Given the description of an element on the screen output the (x, y) to click on. 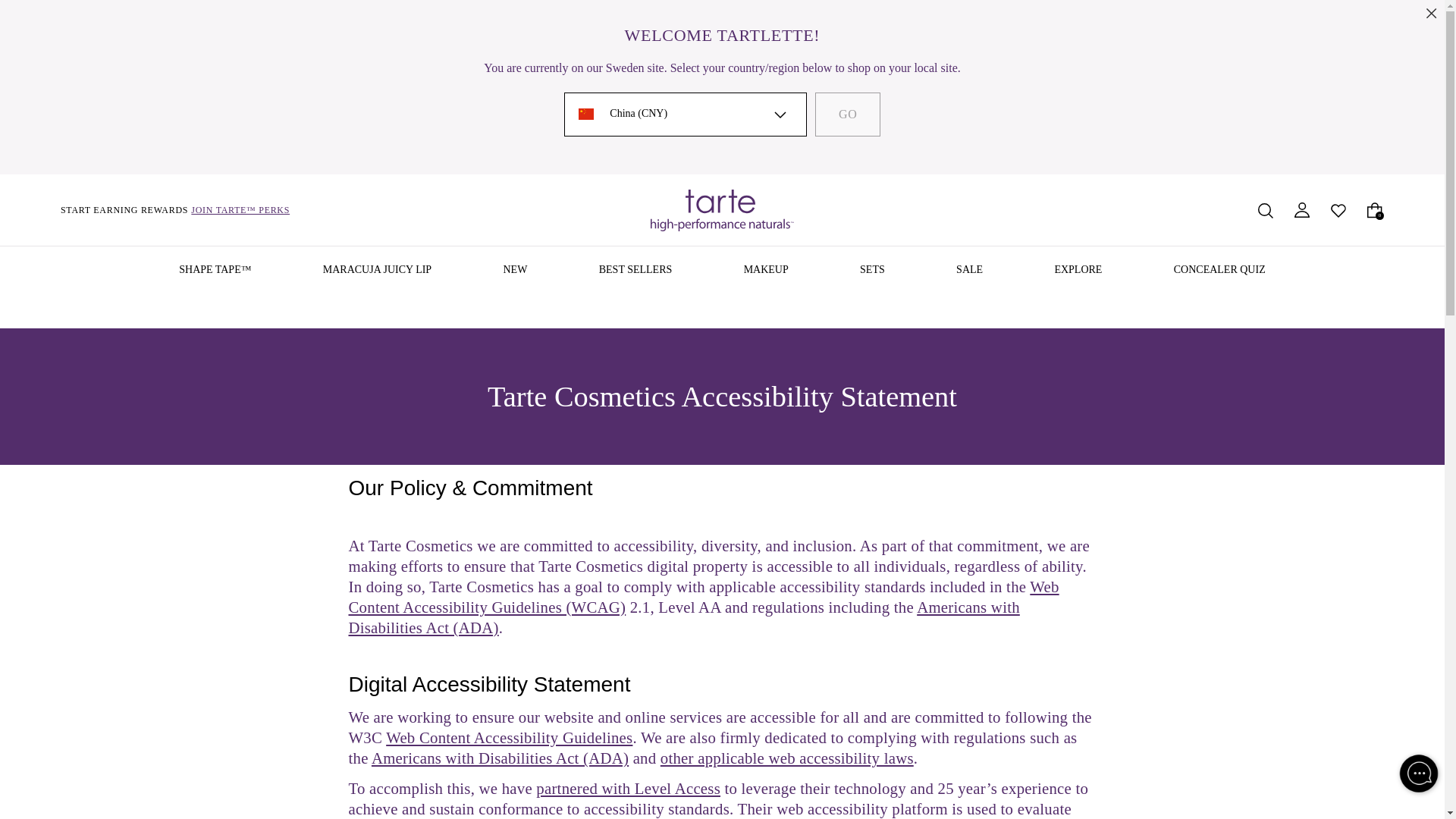
GO (847, 114)
BEST SELLERS (635, 270)
Cart 0 Items (1374, 208)
0 (1374, 208)
NEW (514, 270)
MARACUJA JUICY LIP (376, 270)
tarte cosmetics Tarte (721, 209)
MAKEUP (766, 270)
